Given the description of an element on the screen output the (x, y) to click on. 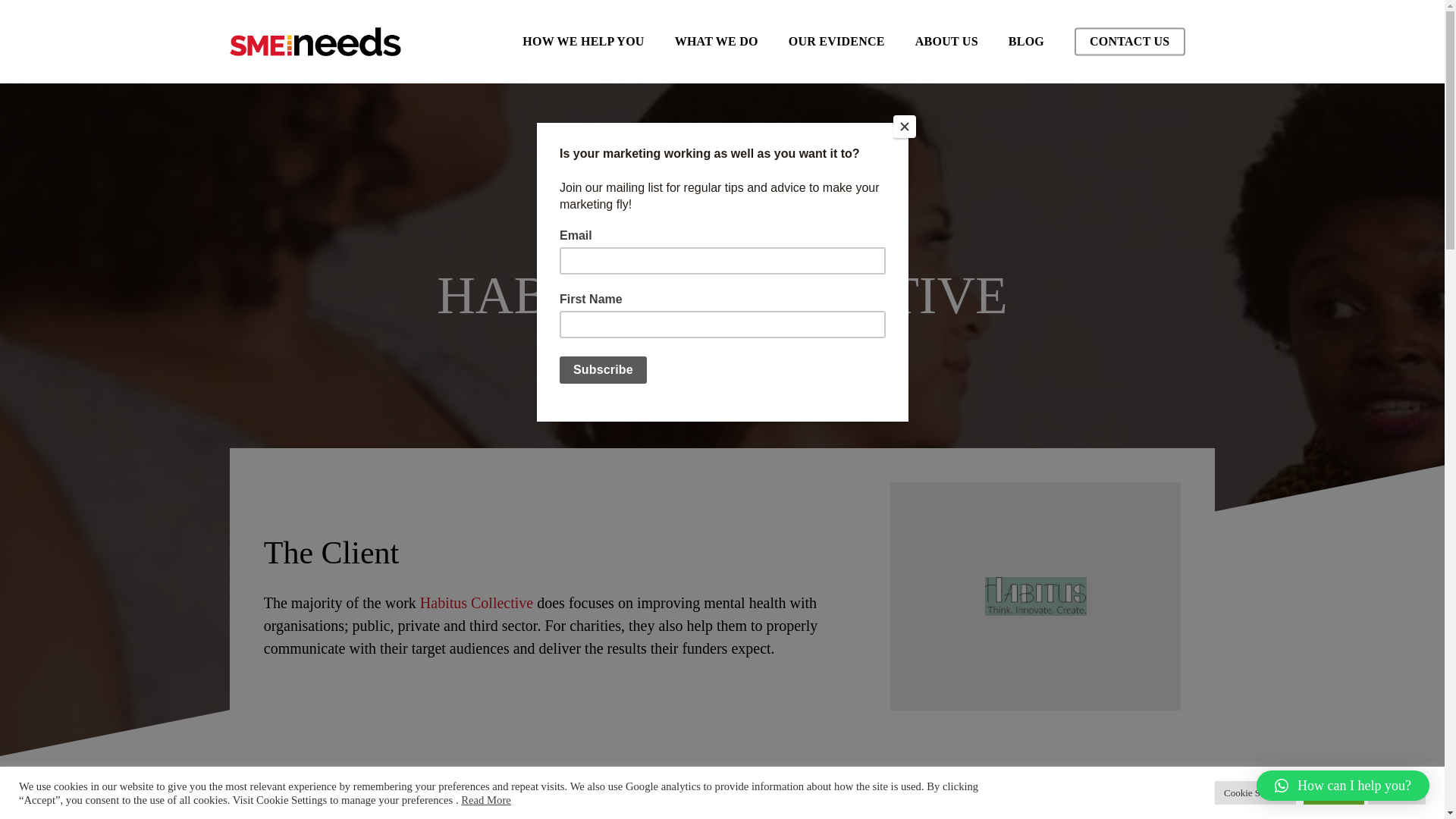
CONTACT US (1129, 41)
OUR EVIDENCE (837, 41)
HOW WE HELP YOU (582, 41)
ABOUT US (946, 41)
WHAT WE DO (716, 41)
BLOG (1026, 41)
